Given the description of an element on the screen output the (x, y) to click on. 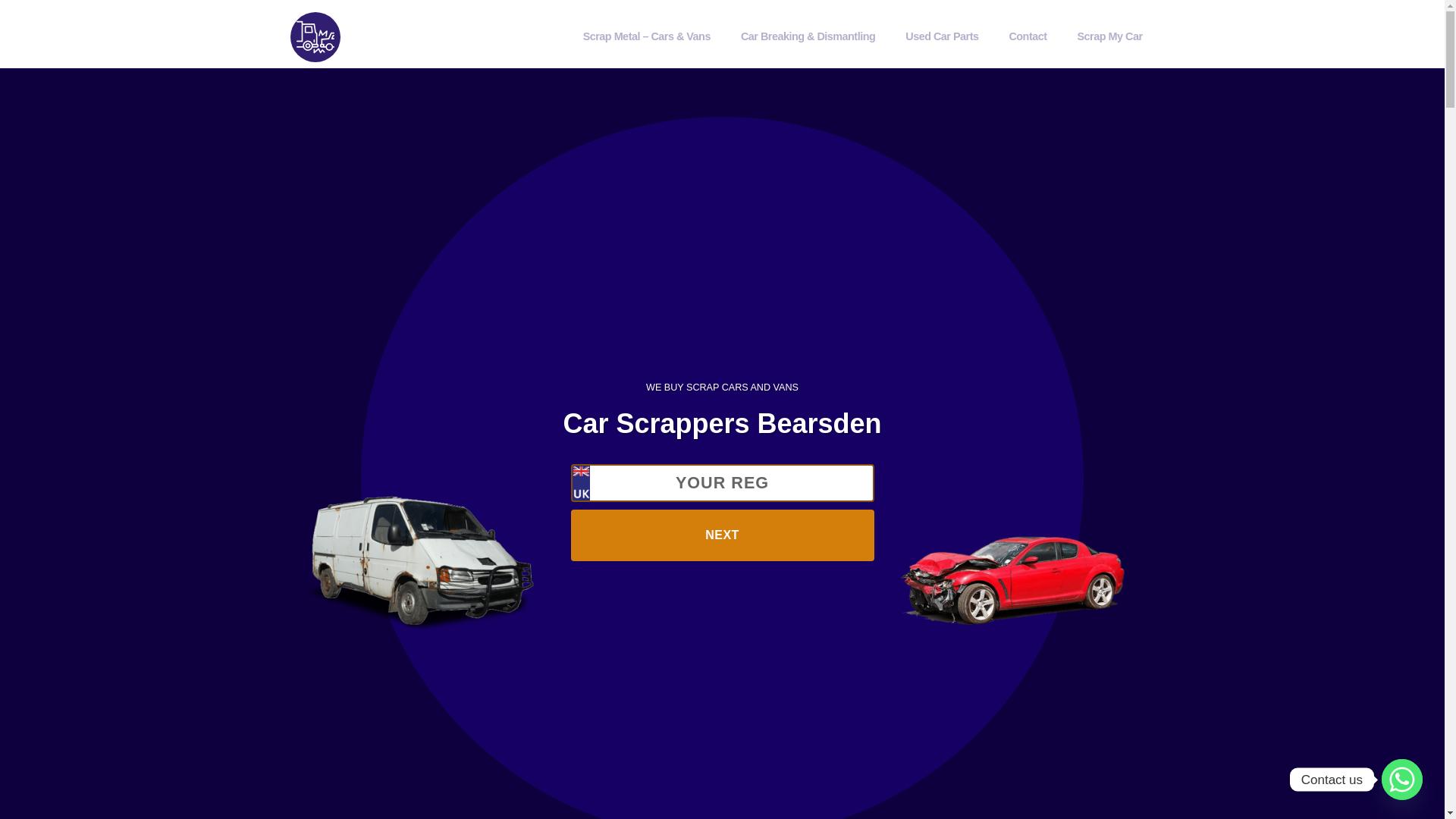
Used Car Parts (941, 36)
Contact (1026, 36)
NEXT (721, 535)
Scrap My Car (1109, 36)
